Given the description of an element on the screen output the (x, y) to click on. 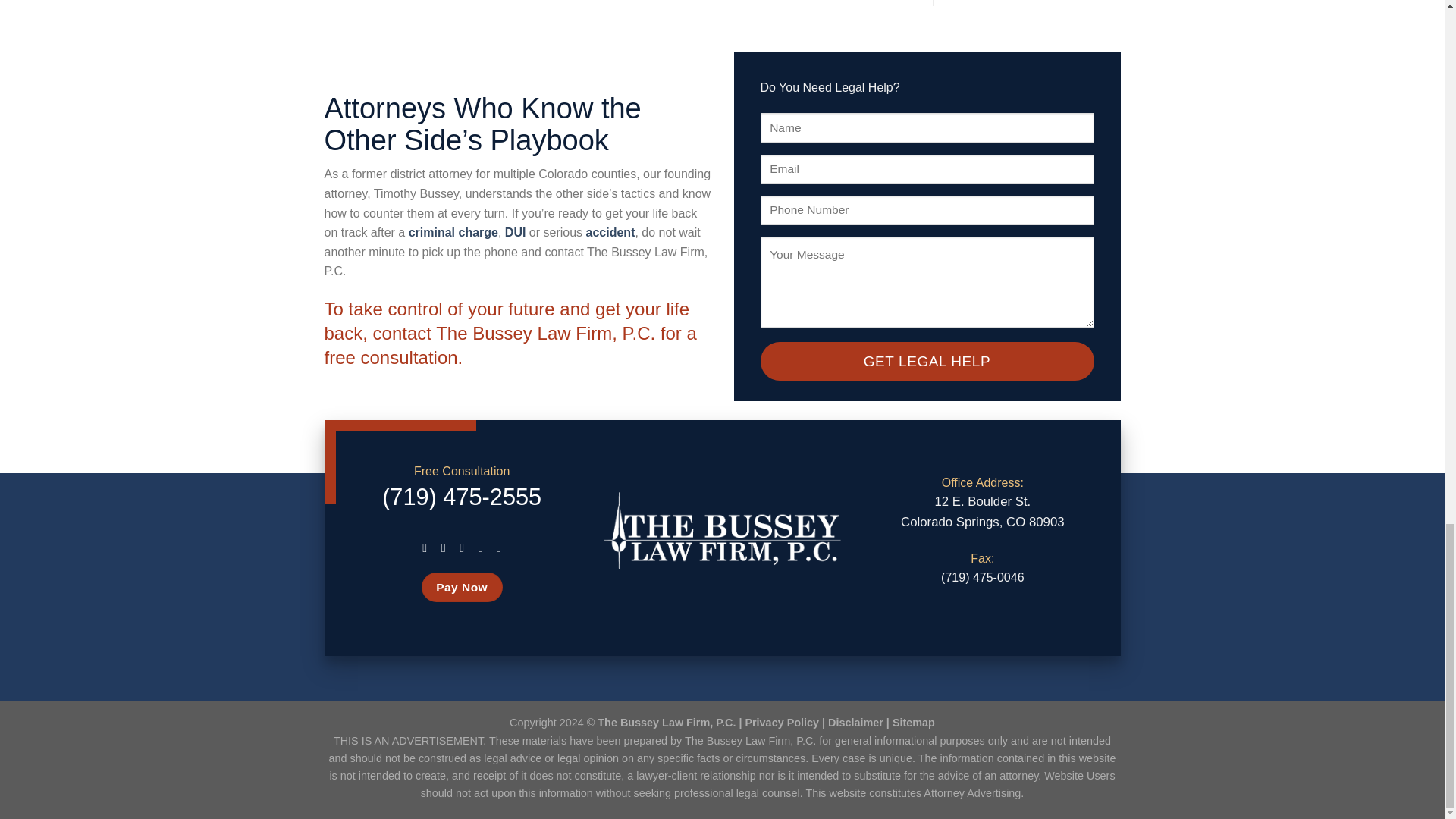
Follow on YouTube (499, 547)
Follow on Twitter (461, 547)
Follow on Instagram (443, 547)
Get Legal Help (926, 361)
Follow on Facebook (424, 547)
Follow on LinkedIn (480, 547)
